Given the description of an element on the screen output the (x, y) to click on. 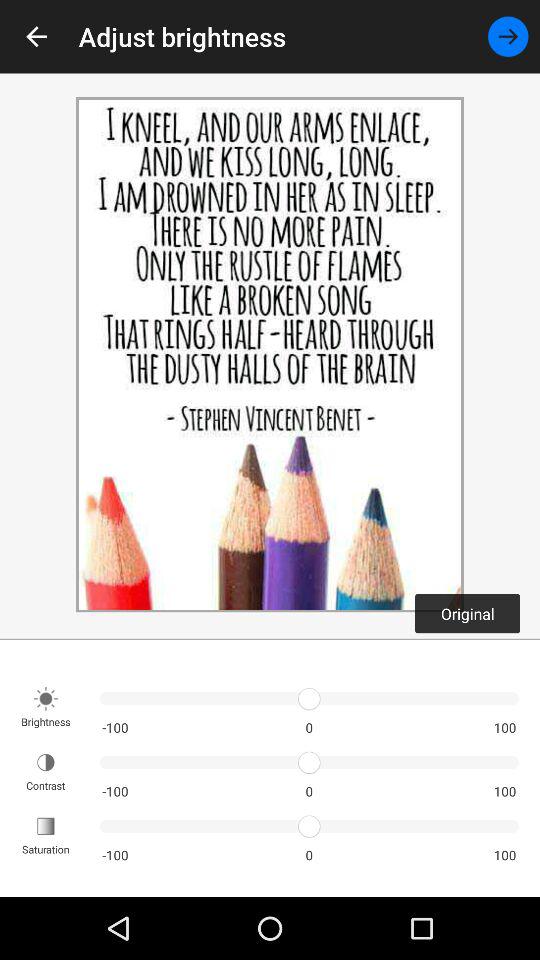
click the item next to adjust brightness item (36, 36)
